Given the description of an element on the screen output the (x, y) to click on. 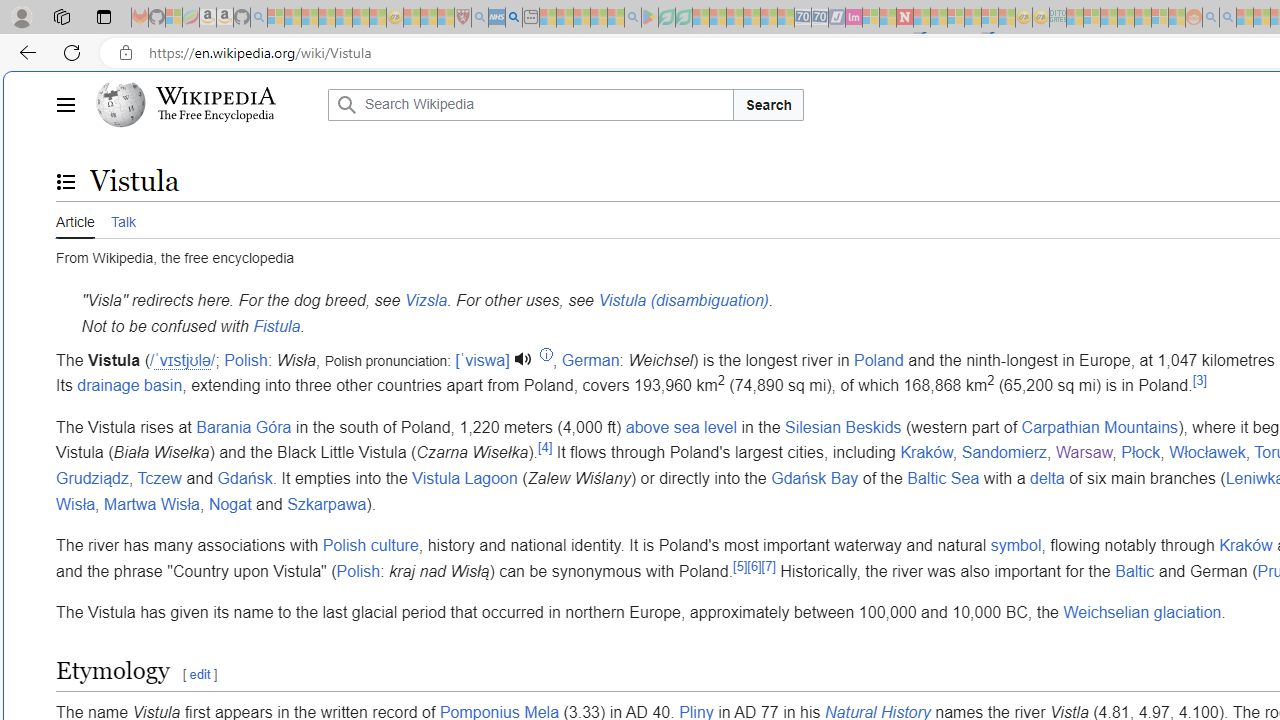
Wikipedia (216, 96)
MSNBC - MSN - Sleeping (1074, 17)
above sea level (680, 427)
New Report Confirms 2023 Was Record Hot | Watch - Sleeping (343, 17)
German (589, 359)
Tczew (158, 477)
Silesian Beskids (843, 427)
Expert Portfolios - Sleeping (1125, 17)
The Free Encyclopedia (216, 116)
Play audio (525, 359)
Baltic (1134, 571)
Recipes - MSN - Sleeping (411, 17)
Vizsla (426, 301)
